Given the description of an element on the screen output the (x, y) to click on. 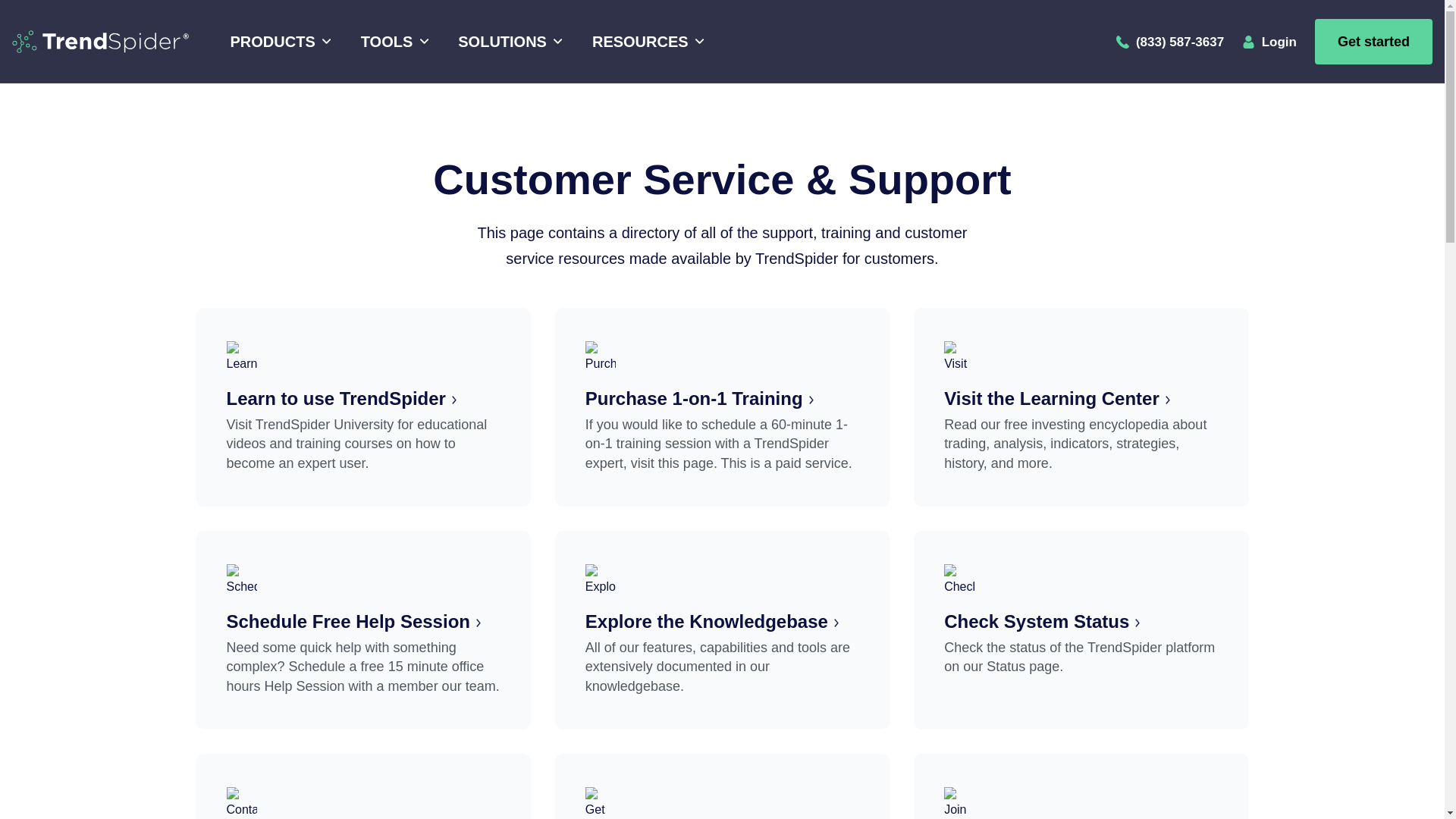
TrendSpider (100, 41)
TOOLS (392, 41)
Get started (1373, 41)
RESOURCES (645, 41)
SOLUTIONS (508, 41)
PRODUCTS (277, 41)
